Given the description of an element on the screen output the (x, y) to click on. 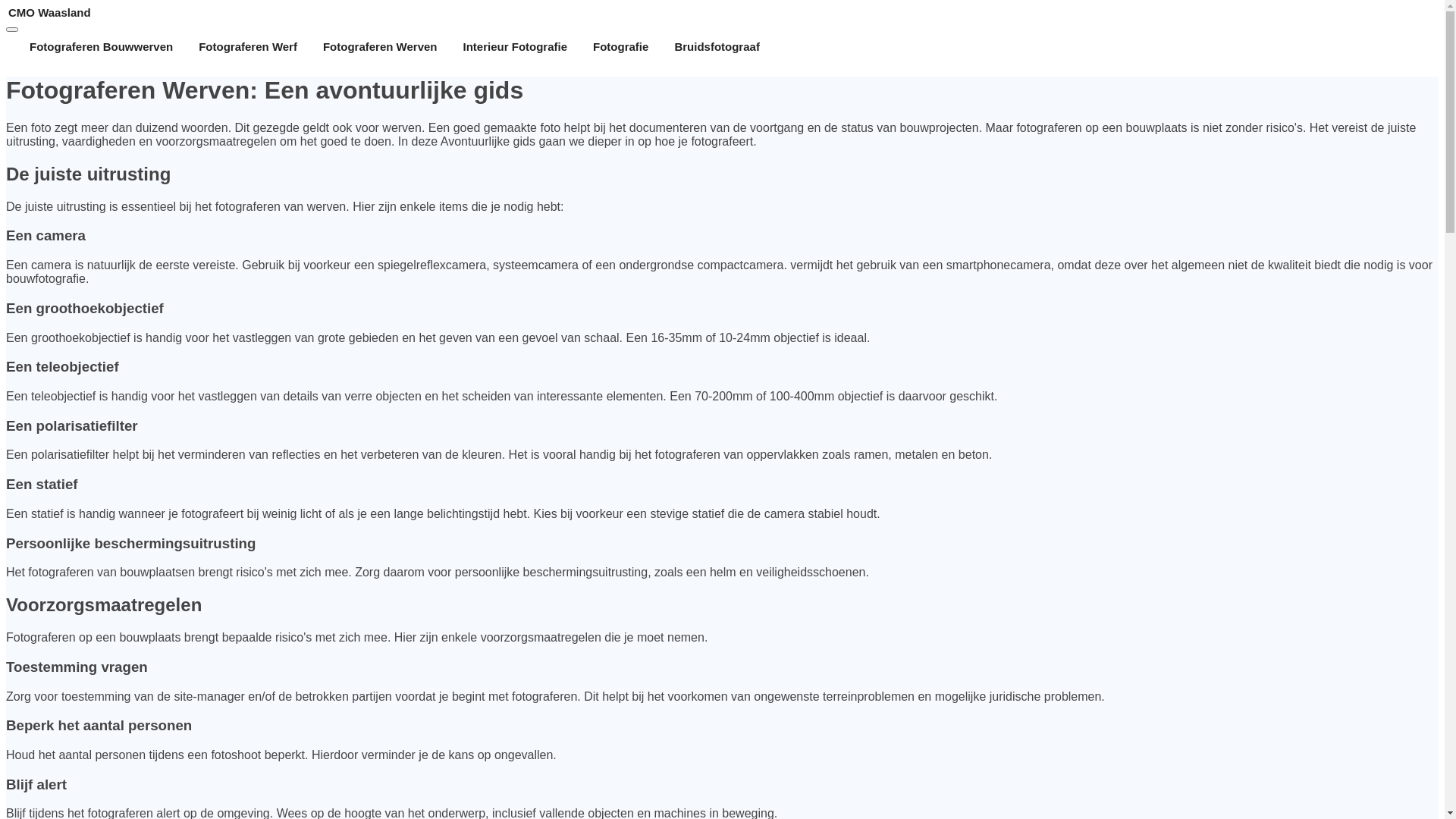
Fotograferen Werven Element type: text (379, 46)
Interieur Fotografie Element type: text (515, 46)
Fotografie Element type: text (620, 46)
CMO Waasland Element type: text (722, 12)
Fotograferen Bouwwerven Element type: text (101, 46)
Bruidsfotograaf Element type: text (716, 46)
Fotograferen Werf Element type: text (247, 46)
